Given the description of an element on the screen output the (x, y) to click on. 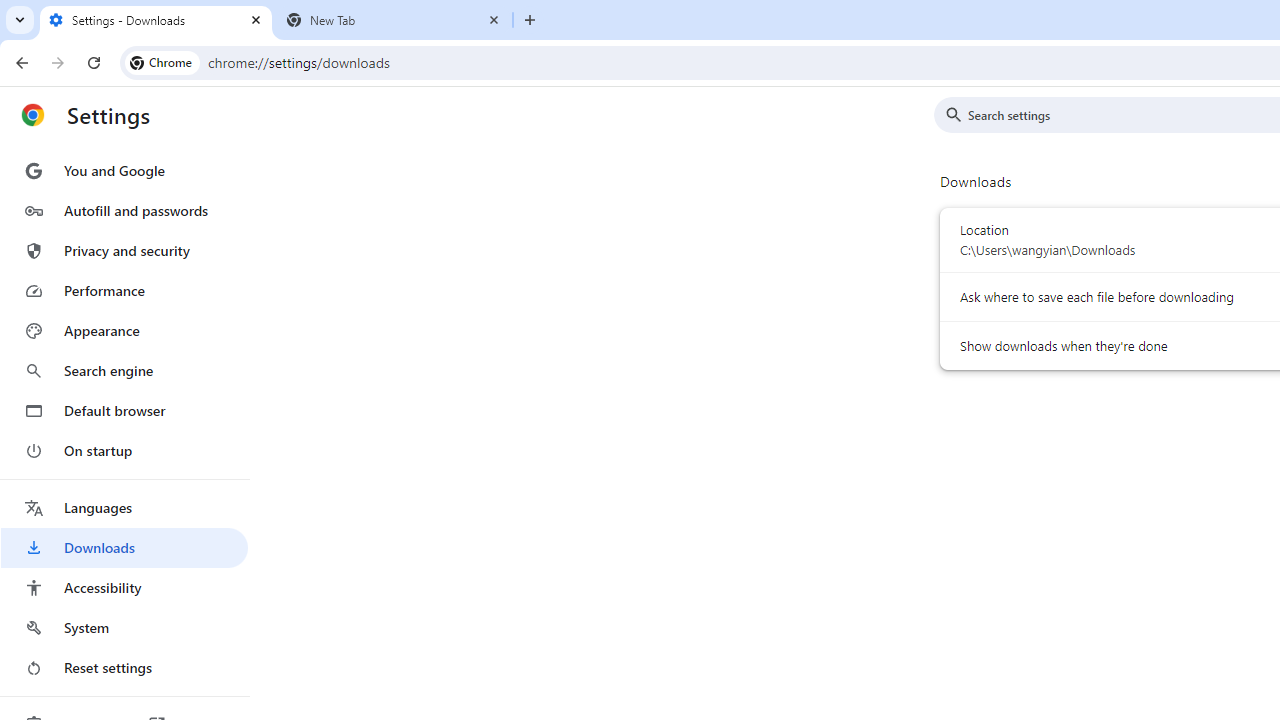
Languages (124, 507)
You and Google (124, 170)
On startup (124, 450)
Privacy and security (124, 250)
Reset settings (124, 668)
Downloads (124, 547)
Forward (57, 62)
Search tabs (20, 20)
Search engine (124, 370)
New Tab (529, 20)
Appearance (124, 331)
Settings - Downloads (156, 20)
New Tab (394, 20)
